Given the description of an element on the screen output the (x, y) to click on. 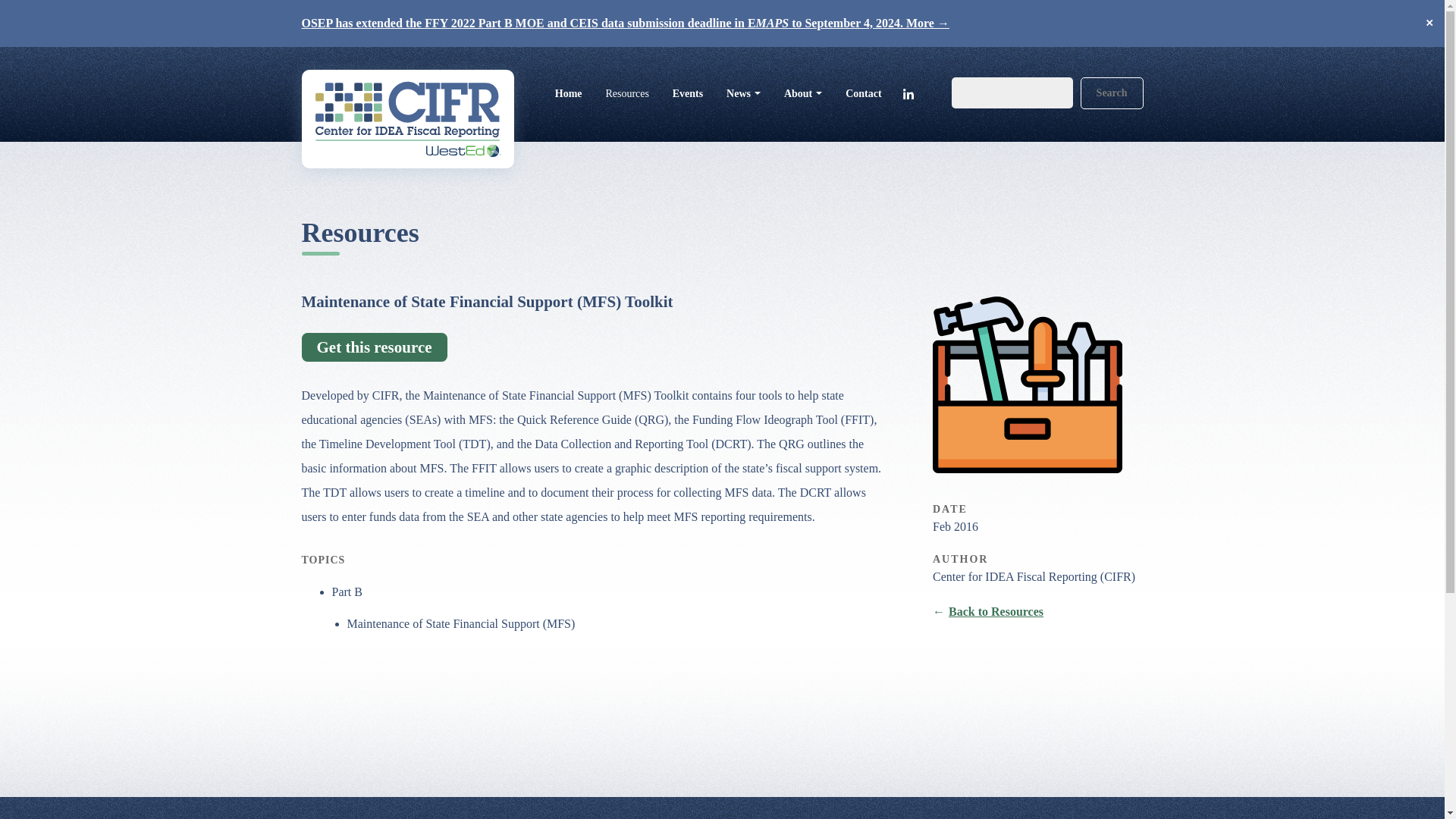
Back to Resources (988, 611)
News (743, 93)
Contact (863, 93)
About (801, 93)
Home (568, 93)
Events (687, 93)
Resources (627, 93)
Search (1111, 92)
Get this resource (373, 346)
Search (1111, 92)
